Given the description of an element on the screen output the (x, y) to click on. 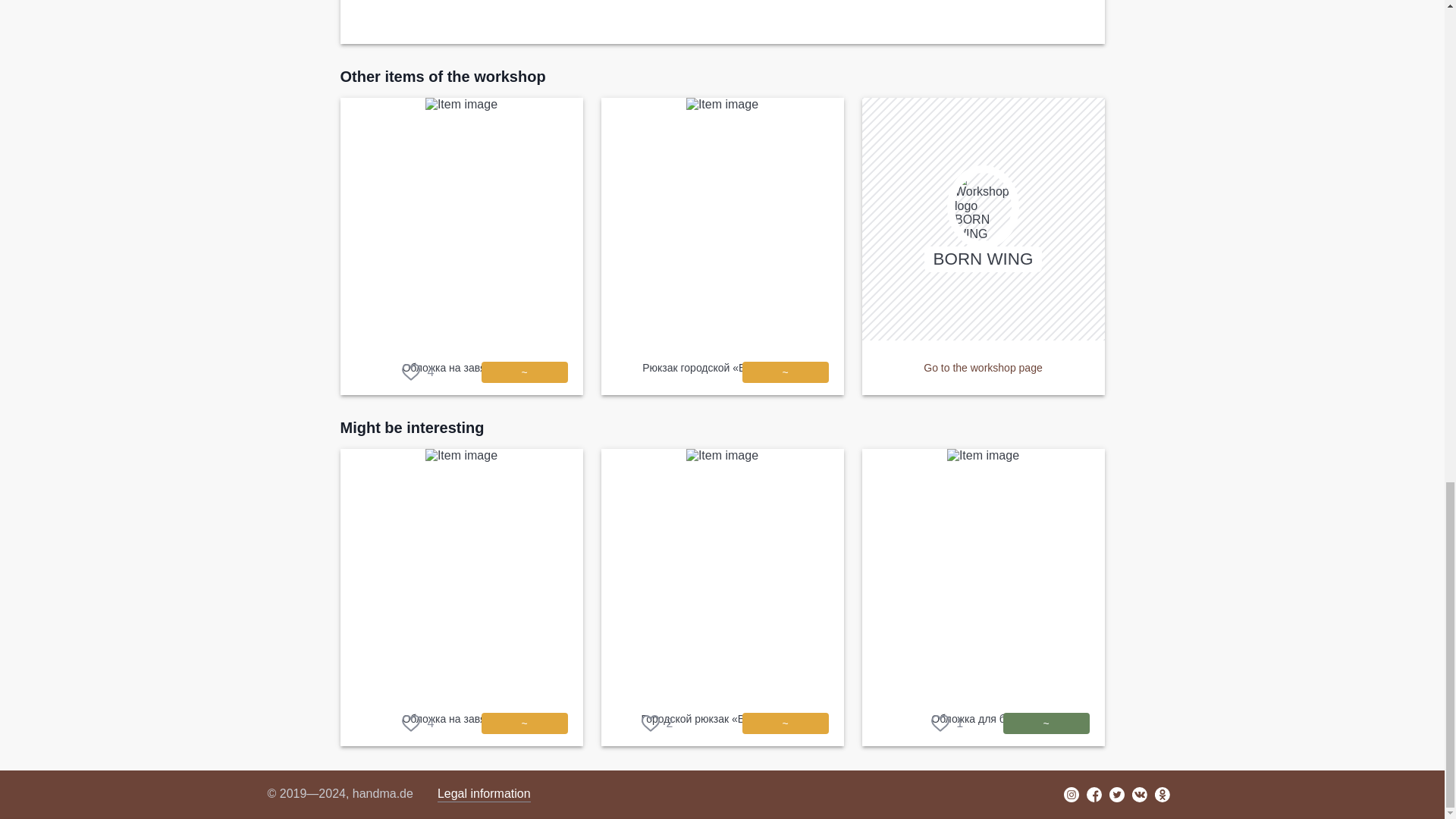
2 (657, 723)
1 (946, 723)
4 (417, 723)
Like (417, 723)
On order. Proceed to creating an order (784, 372)
Like (657, 723)
Legal information (484, 794)
On order. Proceed to creating an order (784, 722)
On order. Proceed to creating an order (523, 722)
4 (417, 371)
